Given the description of an element on the screen output the (x, y) to click on. 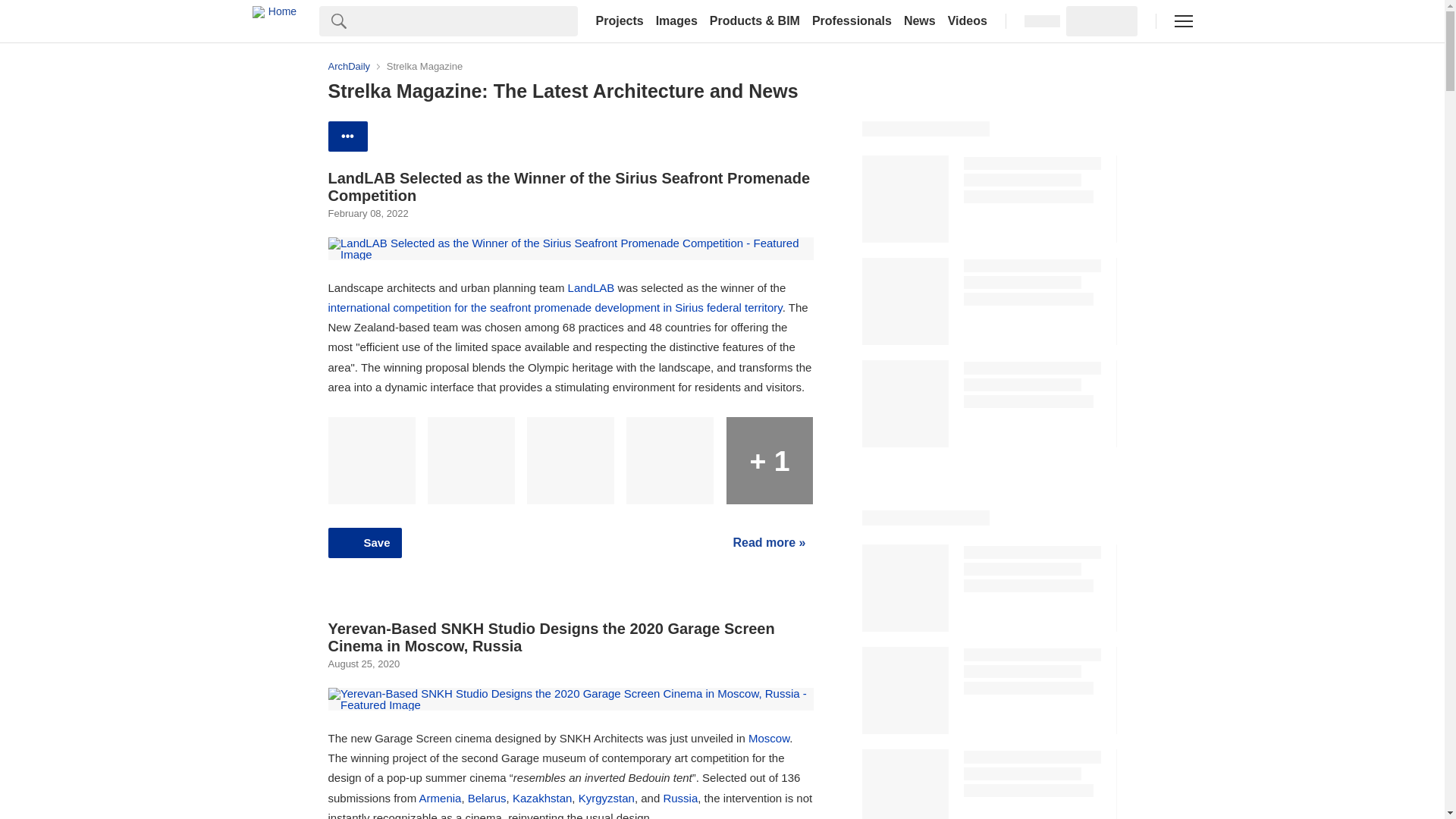
Images (676, 21)
Projects (619, 21)
Videos (967, 21)
News (920, 21)
Professionals (852, 21)
